Given the description of an element on the screen output the (x, y) to click on. 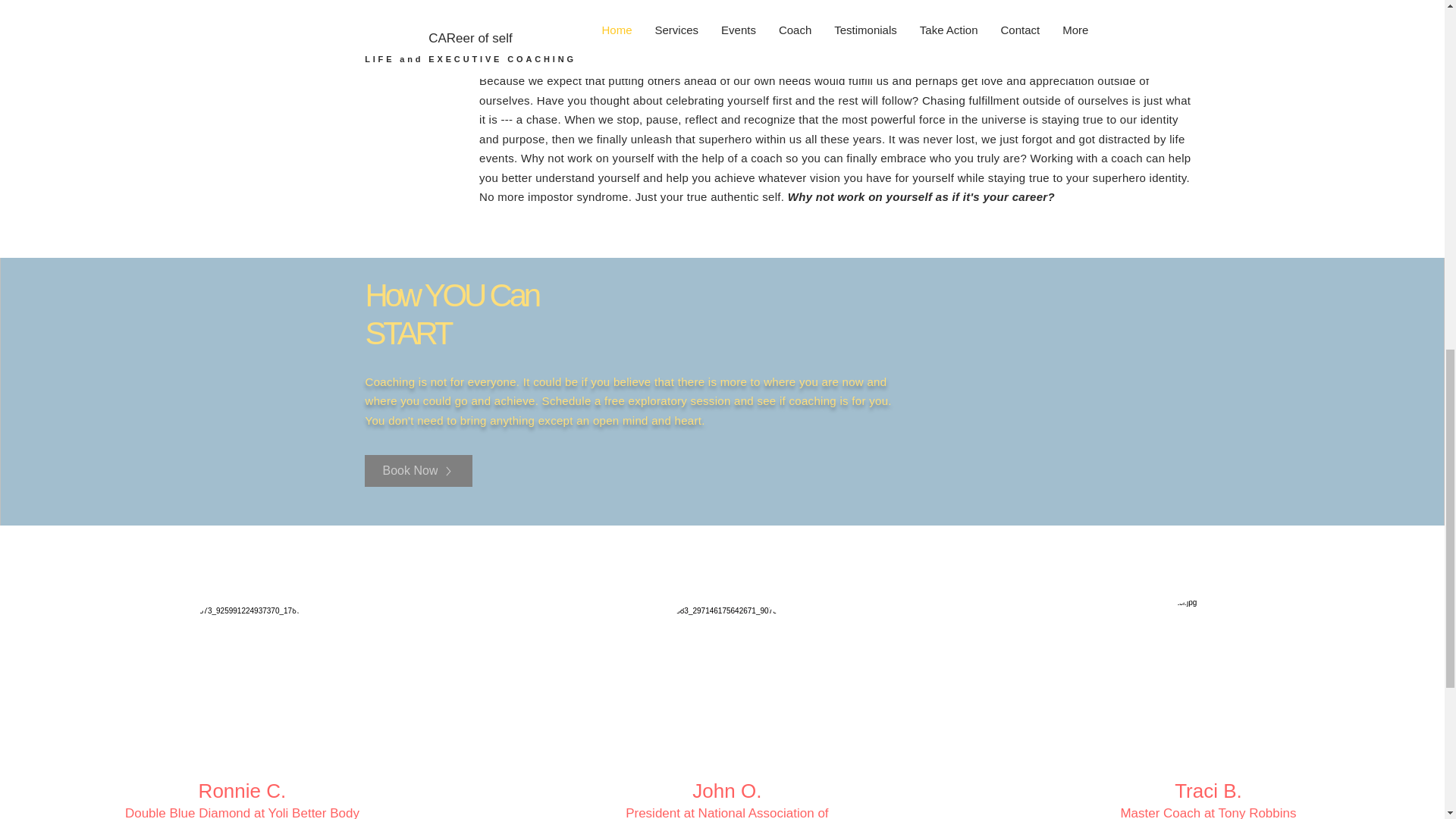
GettyImages-124893619.jpg (726, 670)
GettyImages-535587703.jpg (248, 670)
Book Now (417, 470)
GettyImages-145680711.jpg (1208, 674)
